Given the description of an element on the screen output the (x, y) to click on. 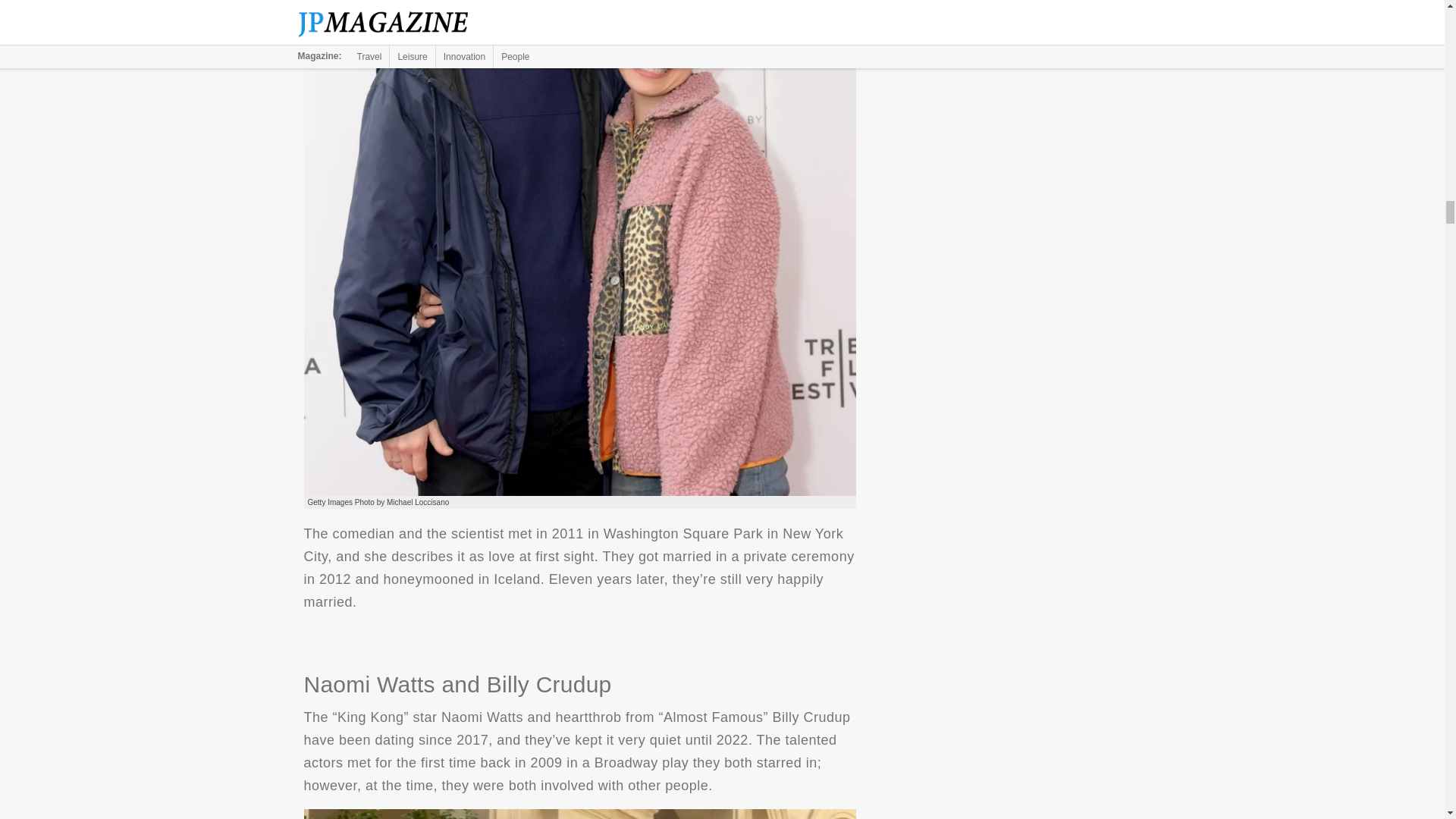
Naomi Watts and Billy Crudup (579, 814)
